Given the description of an element on the screen output the (x, y) to click on. 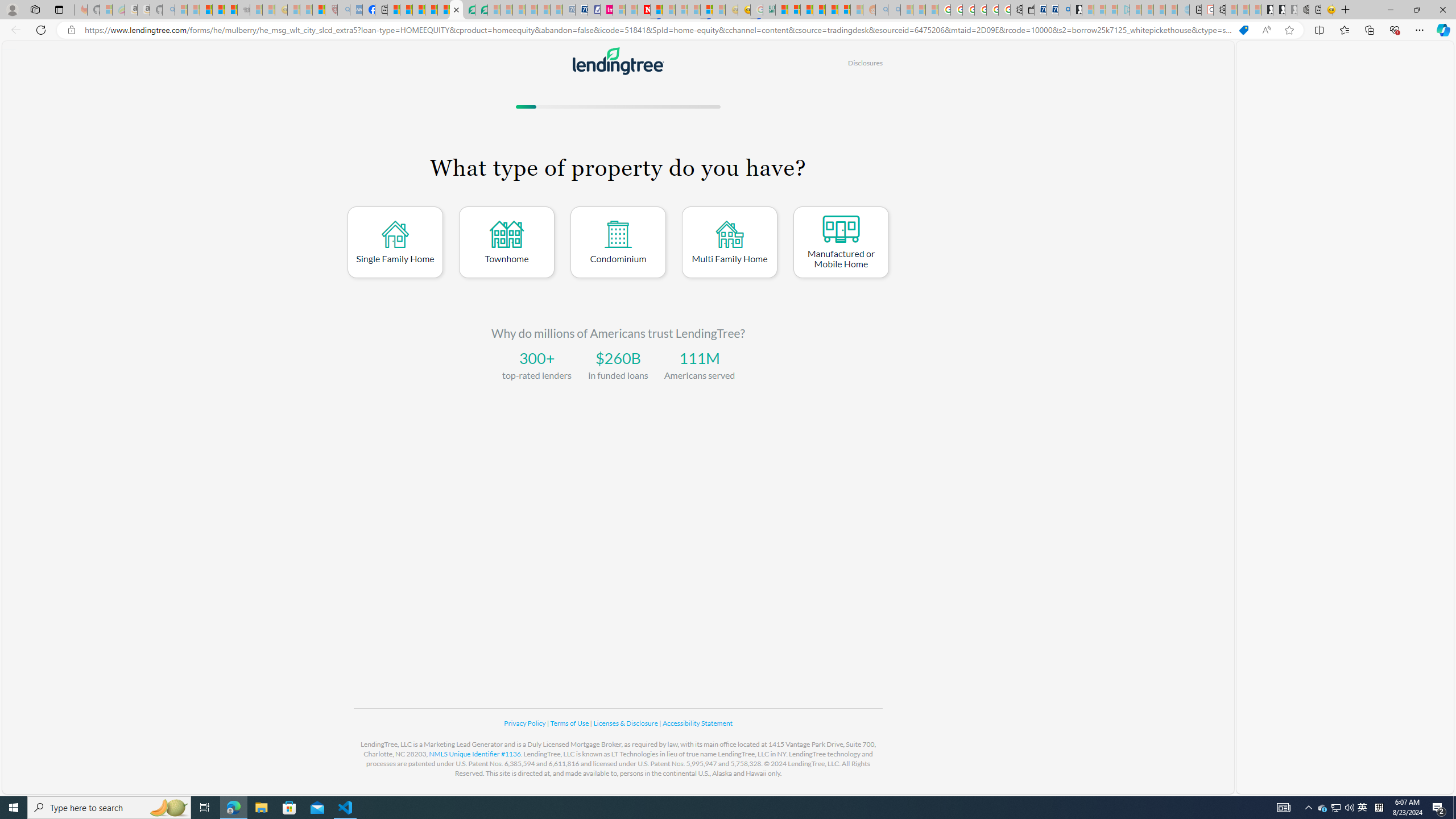
Jobs - lastminute.com Investor Portal (606, 9)
Kinda Frugal - MSN (832, 9)
